Given the description of an element on the screen output the (x, y) to click on. 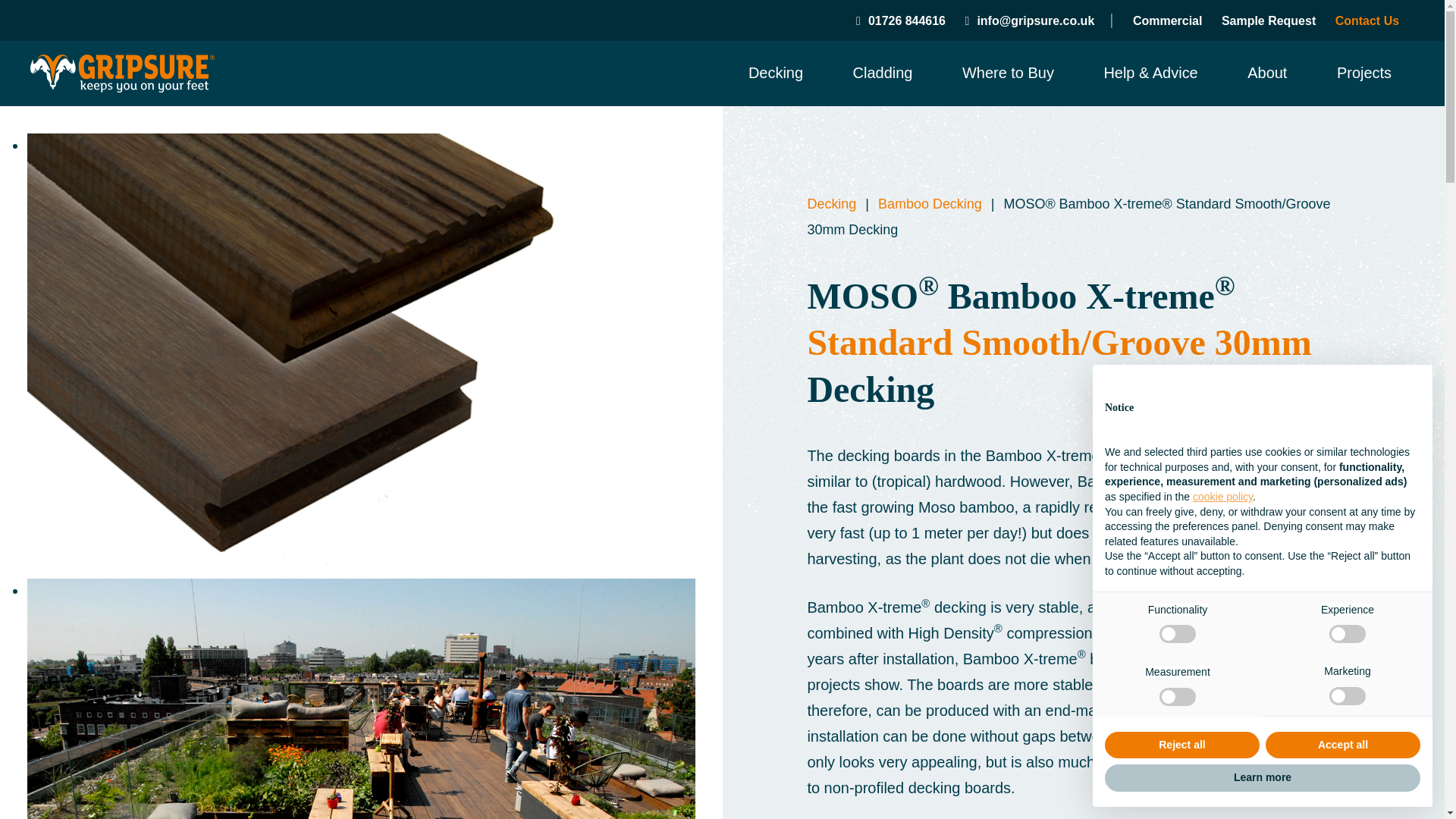
Projects (1363, 72)
Decking (775, 72)
false (1176, 696)
Contact Us (1367, 20)
false (1176, 633)
Cladding (882, 72)
Where to Buy (1008, 72)
01726 844616 (900, 20)
Cladding (882, 72)
Decking (775, 72)
About (1267, 72)
Commercial (1167, 20)
Sample Request (1268, 20)
false (1347, 696)
false (1347, 633)
